Given the description of an element on the screen output the (x, y) to click on. 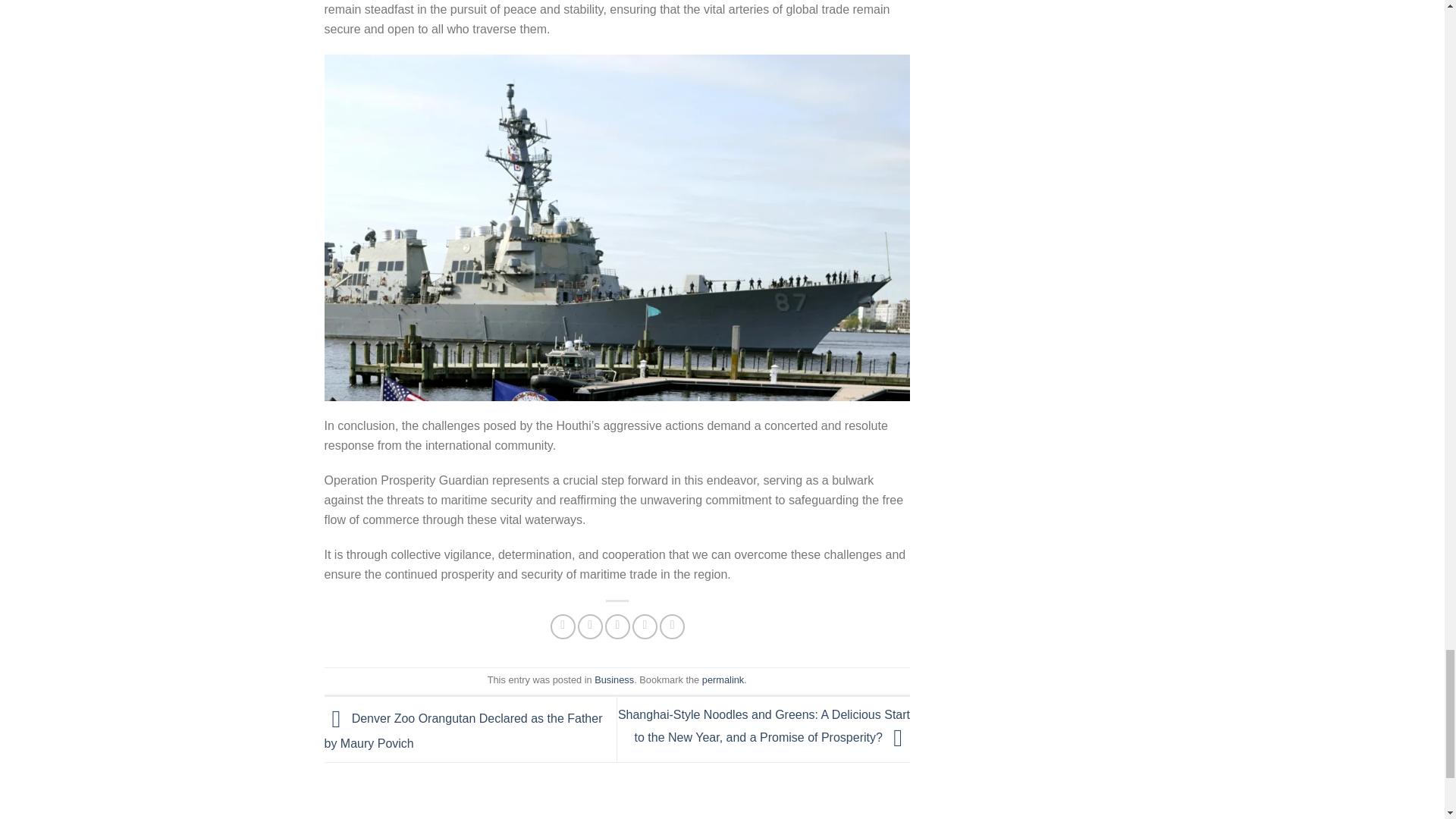
Denver Zoo Orangutan Declared as the Father by Maury Povich (463, 730)
Business (613, 679)
Share on LinkedIn (671, 626)
Pin on Pinterest (644, 626)
Email to a Friend (617, 626)
Share on Twitter (590, 626)
permalink (722, 679)
Share on Facebook (562, 626)
